Given the description of an element on the screen output the (x, y) to click on. 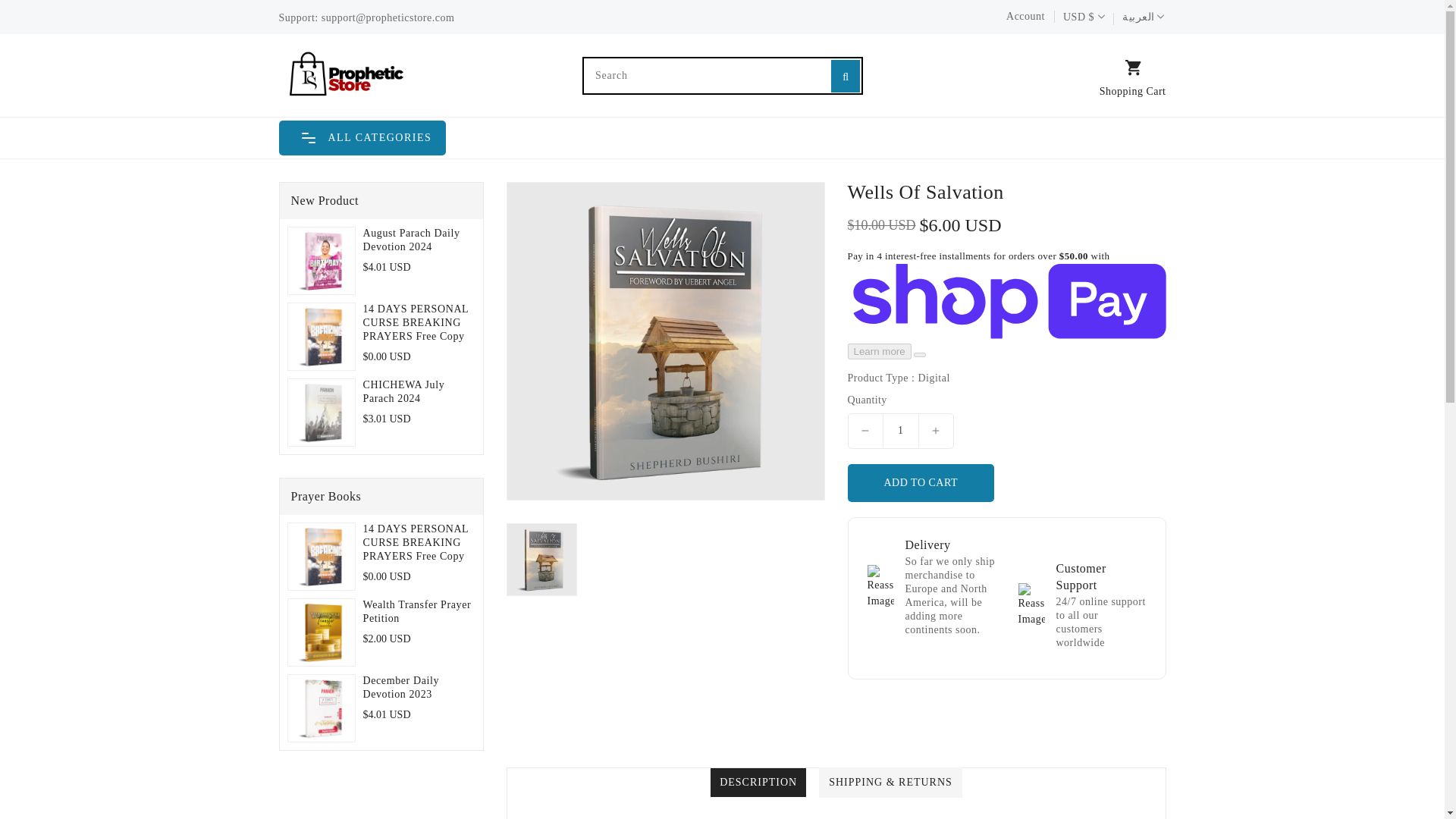
SKIP TO CONTENT (14, 7)
1 (900, 430)
